Given the description of an element on the screen output the (x, y) to click on. 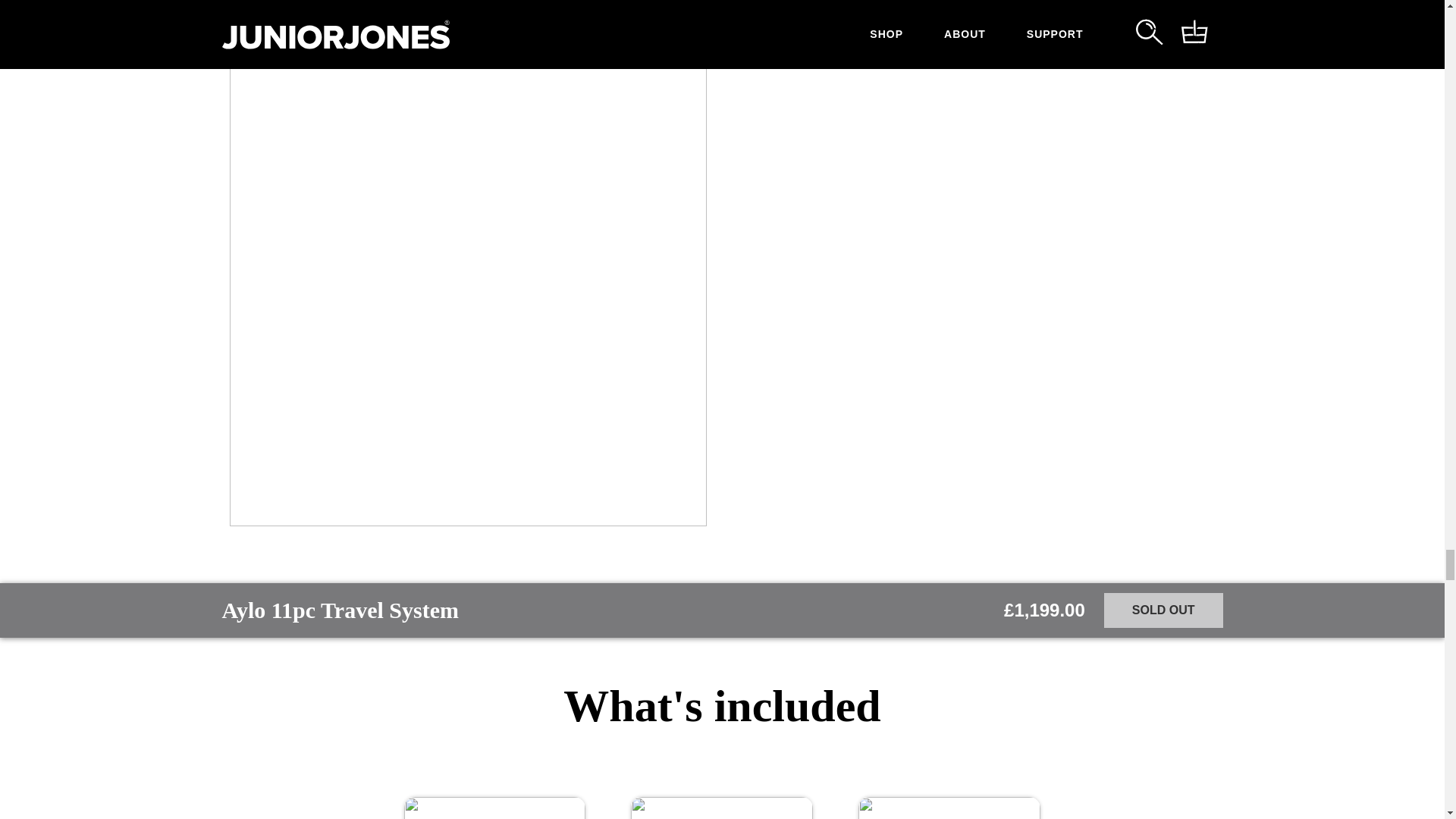
  Sold Out   (1163, 610)
